Given the description of an element on the screen output the (x, y) to click on. 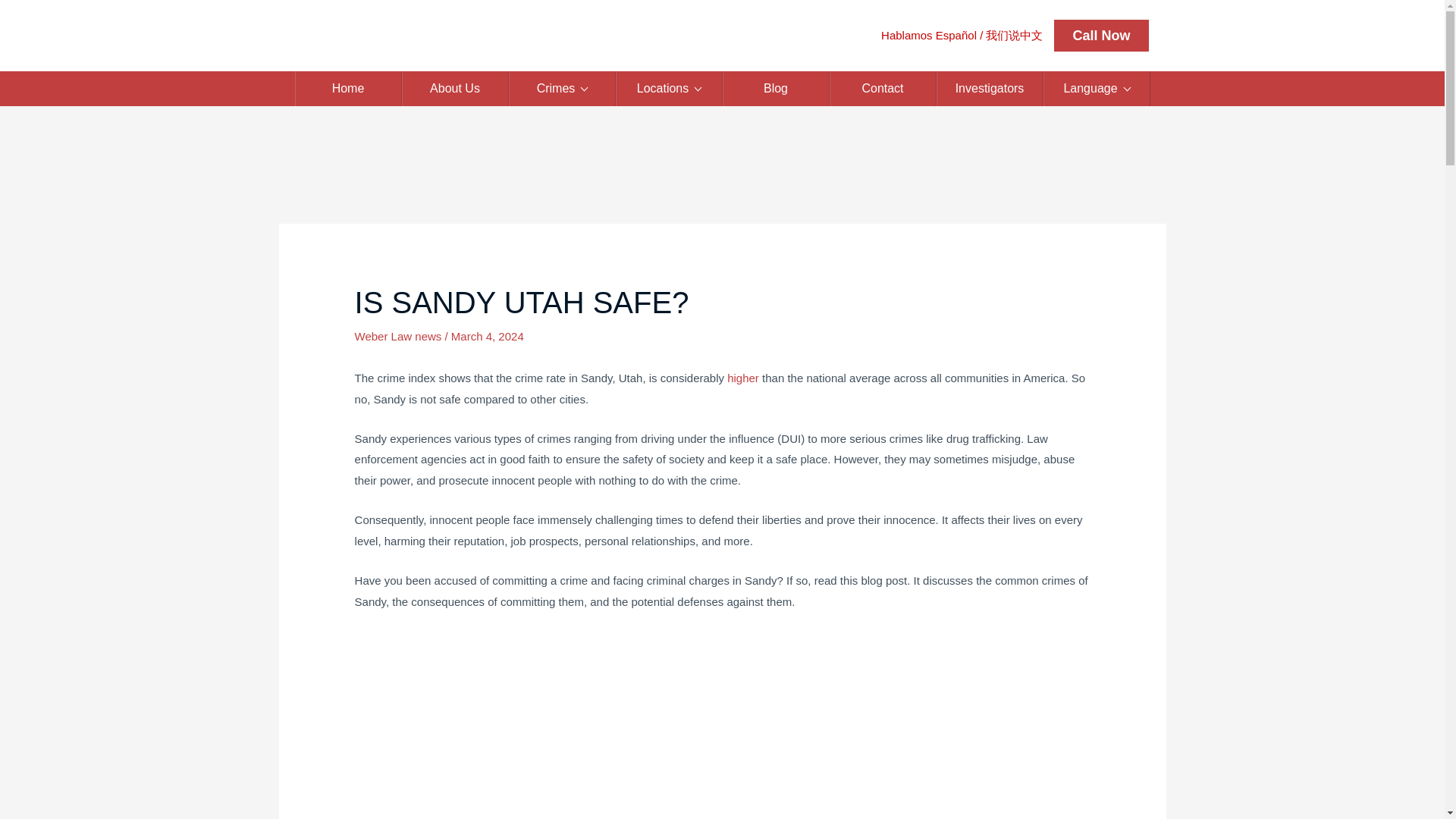
Crimes (561, 88)
About Us (455, 88)
Home (347, 88)
Call Now (1101, 35)
